Given the description of an element on the screen output the (x, y) to click on. 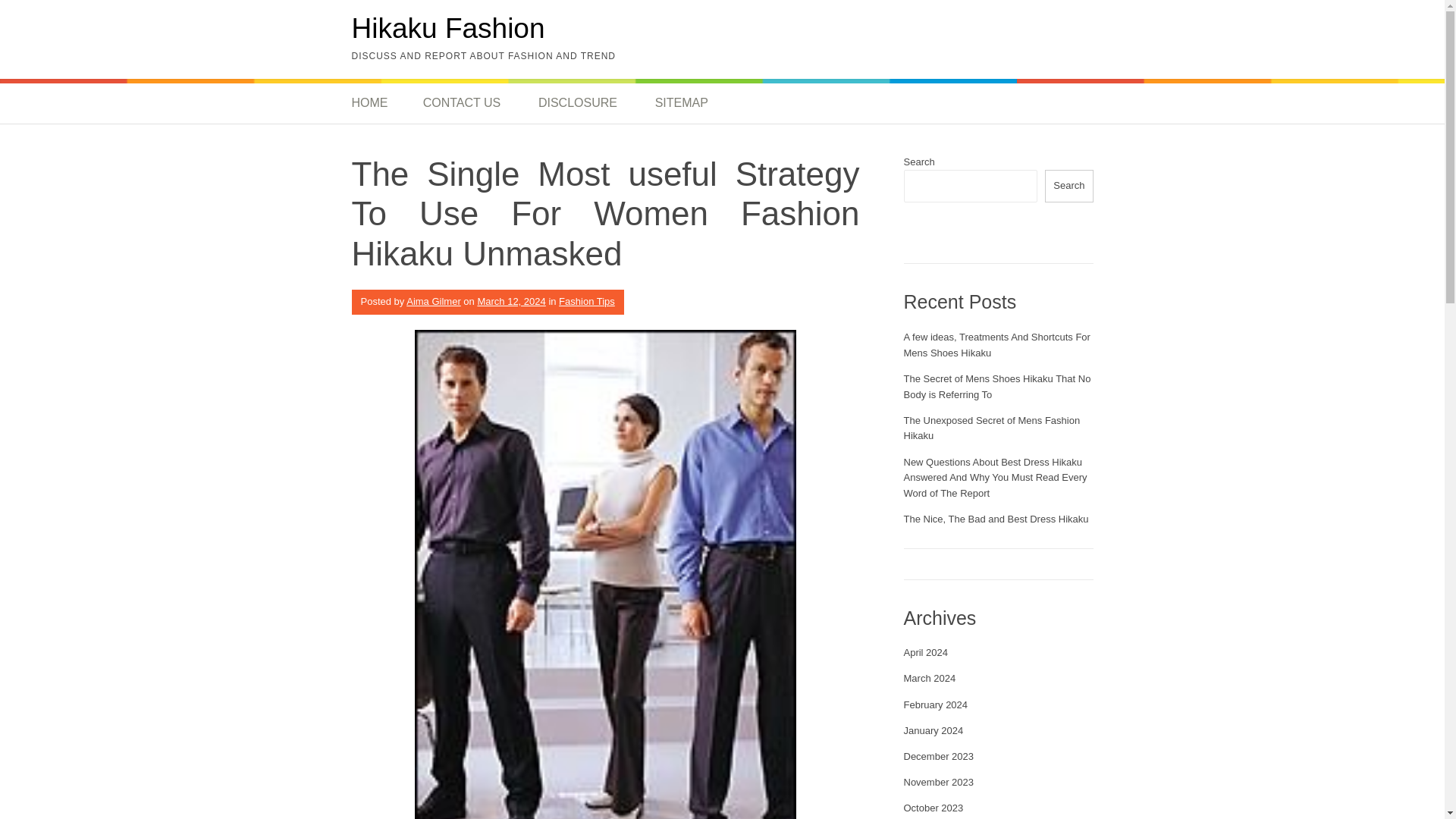
December 2023 (939, 756)
The Nice, The Bad and Best Dress Hikaku (996, 518)
The Unexposed Secret of Mens Fashion Hikaku (992, 428)
Search (1069, 185)
Fashion Tips (586, 301)
November 2023 (939, 781)
April 2024 (926, 652)
DISCLOSURE (577, 102)
Aima Gilmer (433, 301)
